Given the description of an element on the screen output the (x, y) to click on. 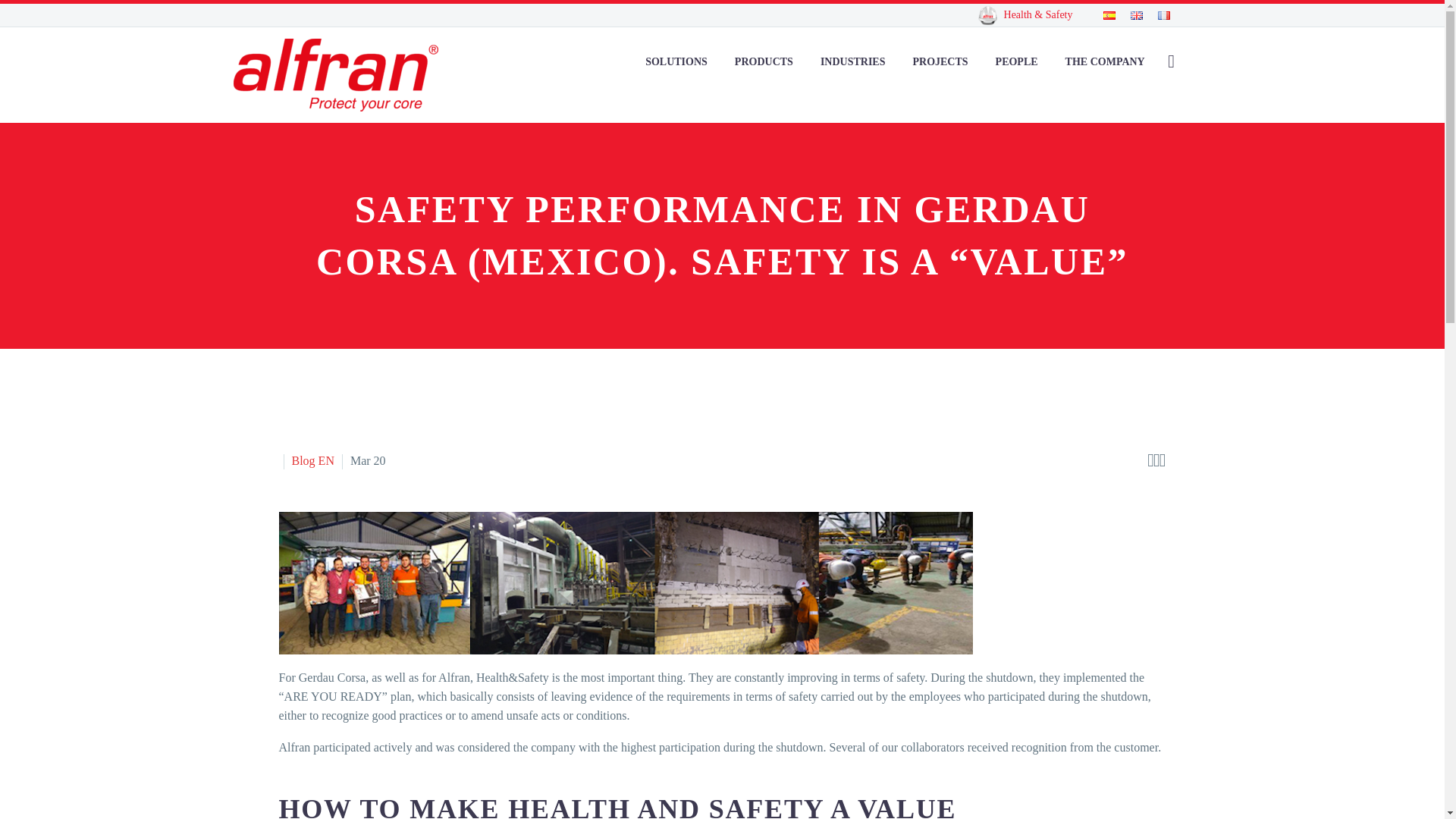
SOLUTIONS (676, 61)
View all posts in Blog EN (312, 460)
PRODUCTS (764, 61)
PROJECTS (939, 61)
PEOPLE (1016, 61)
INDUSTRIES (852, 61)
